Given the description of an element on the screen output the (x, y) to click on. 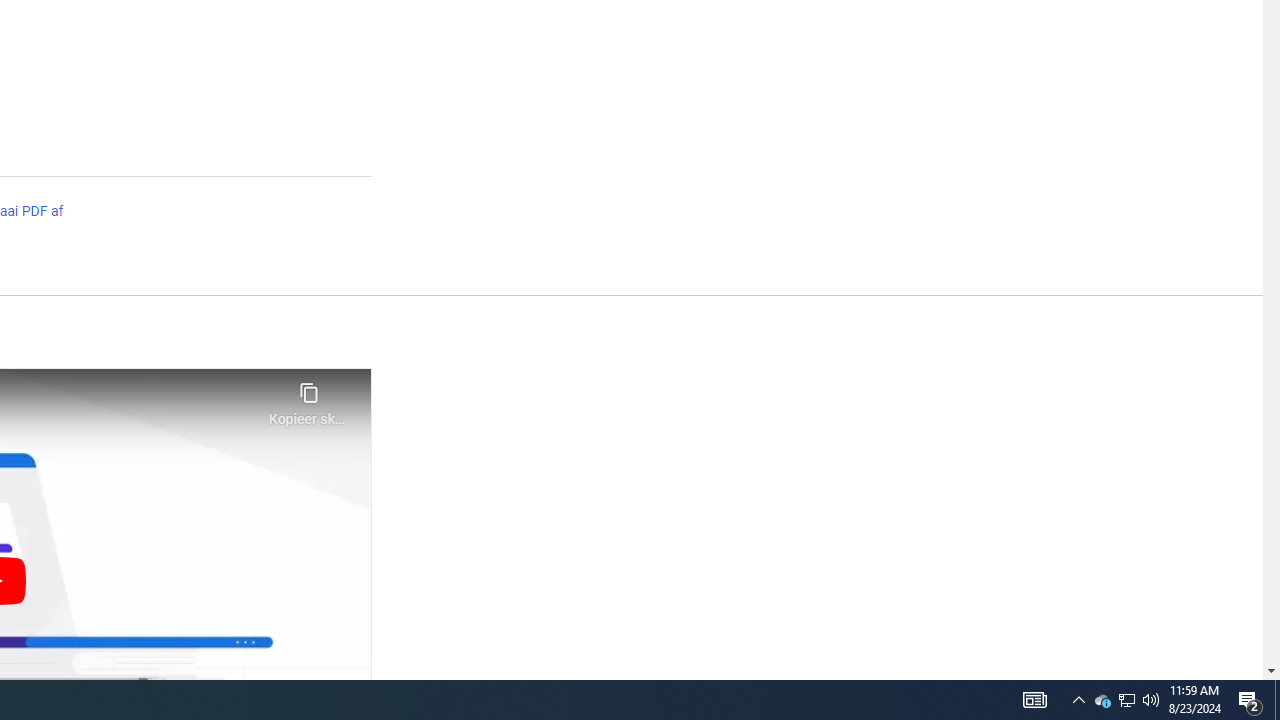
Kopieer skakel (308, 398)
